Given the description of an element on the screen output the (x, y) to click on. 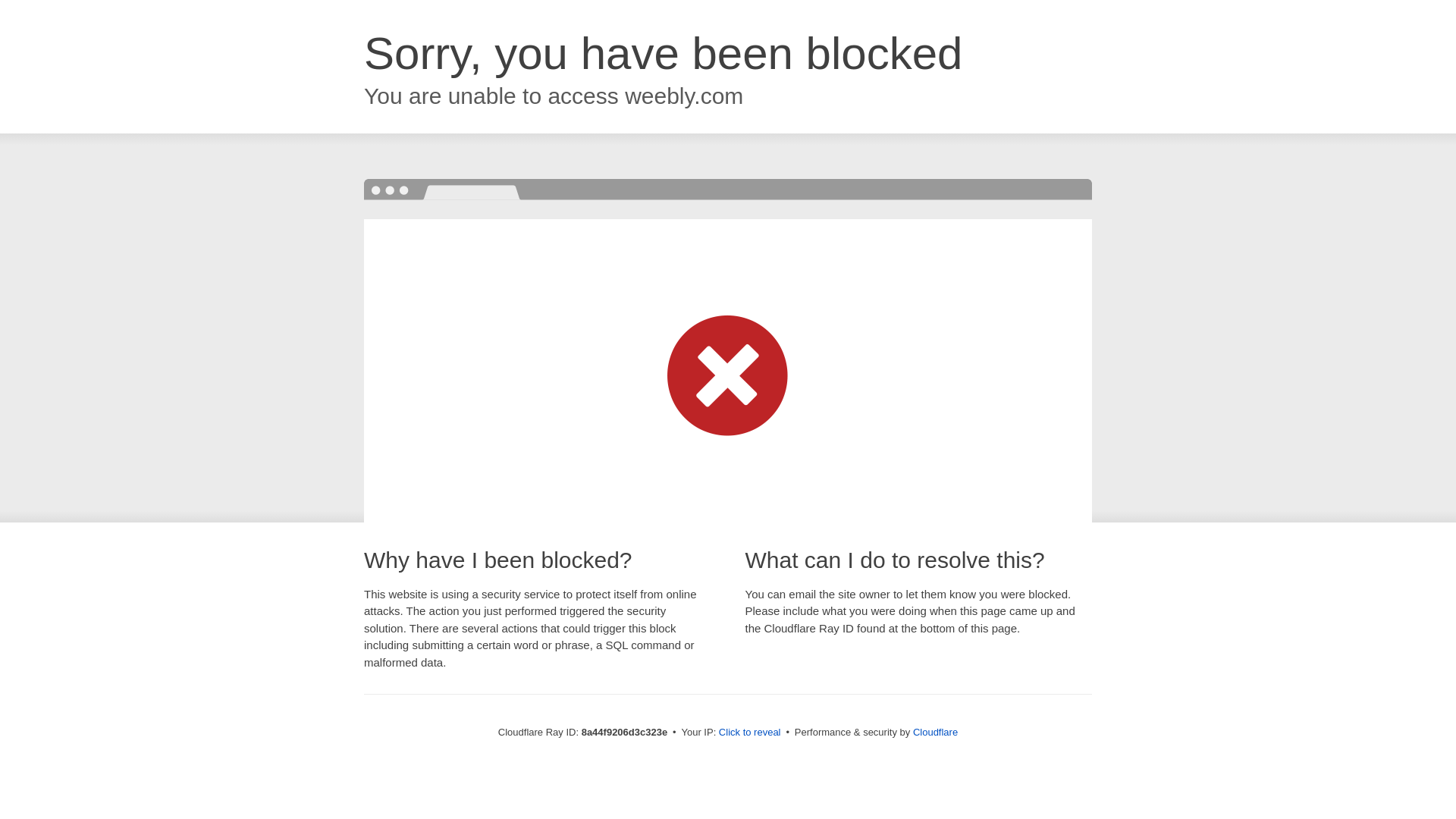
Cloudflare (935, 731)
Click to reveal (749, 732)
